Given the description of an element on the screen output the (x, y) to click on. 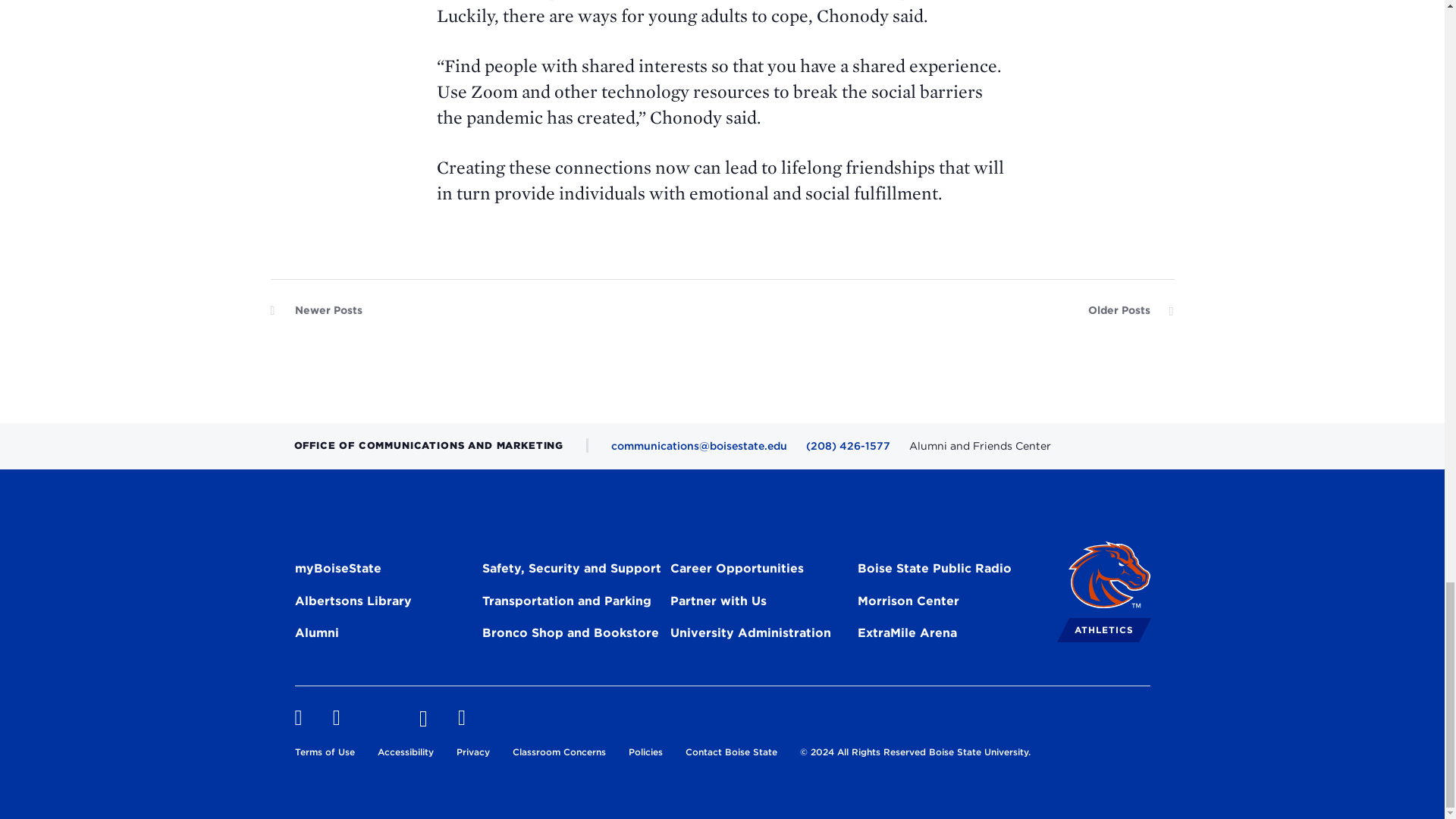
Older Posts (1130, 313)
Newer Posts (315, 313)
Partner with Us (718, 603)
Morrison Center (908, 603)
Transportation and Parking (565, 603)
Career Opportunities (736, 570)
Safety, Security and Support (571, 570)
Alumni (315, 635)
Albertsons Library (352, 603)
myBoiseState (337, 570)
